Given the description of an element on the screen output the (x, y) to click on. 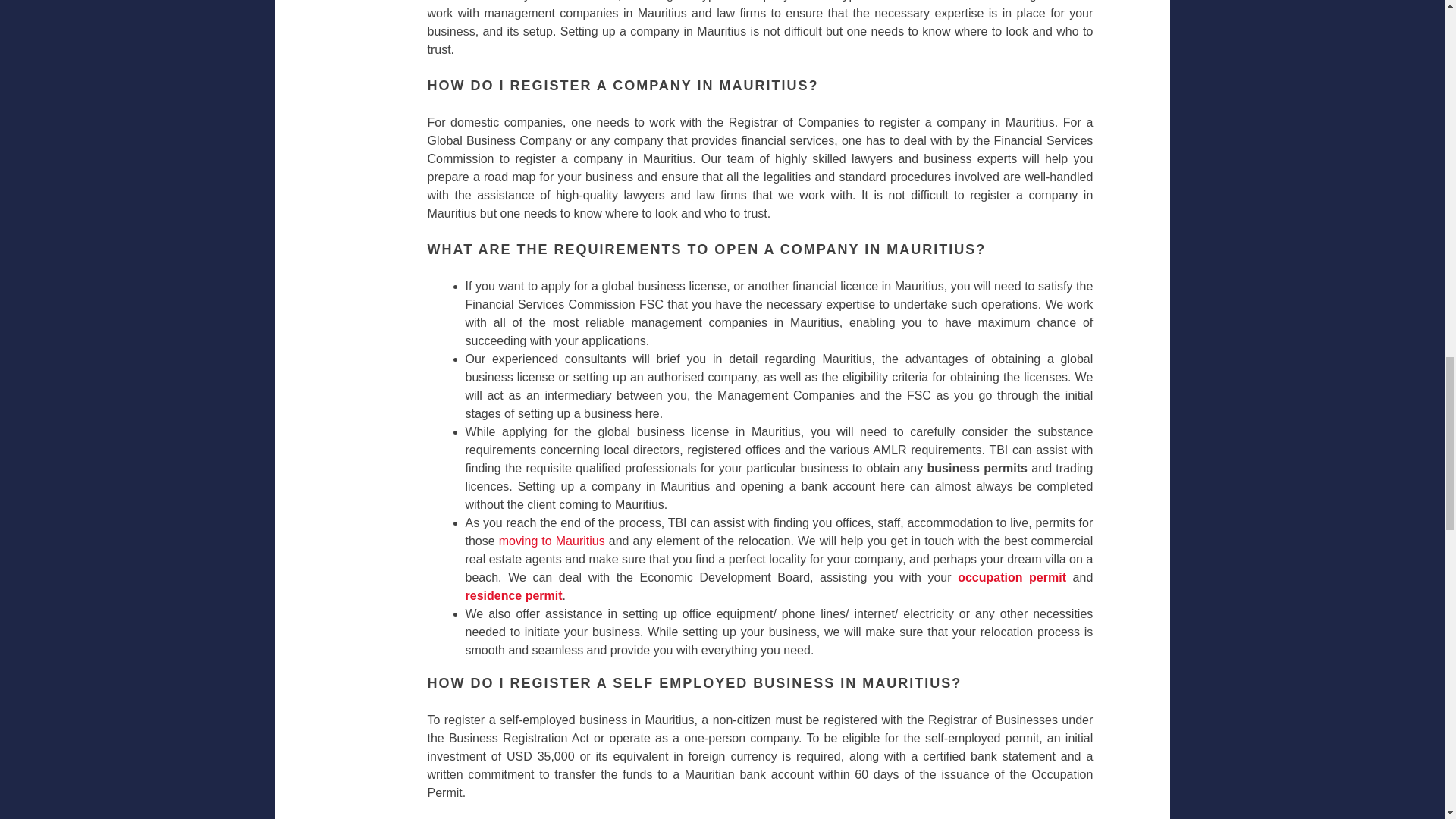
occupation permit (1014, 576)
moving to Mauritius (552, 540)
residence permit (513, 594)
